Given the description of an element on the screen output the (x, y) to click on. 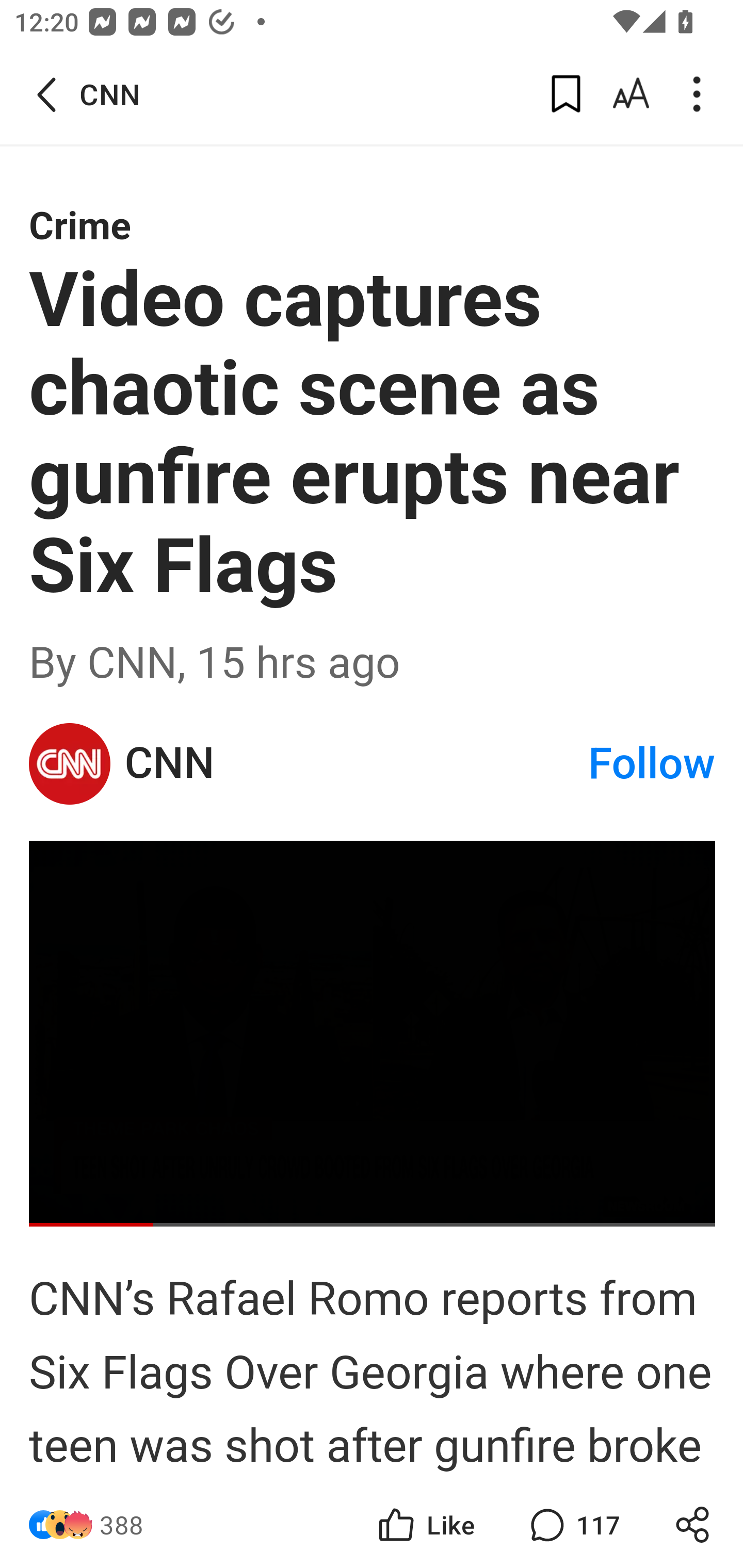
CNN (70, 763)
CNN (355, 763)
Follow (651, 763)
388 (121, 1524)
Like (425, 1524)
117 (572, 1524)
